Given the description of an element on the screen output the (x, y) to click on. 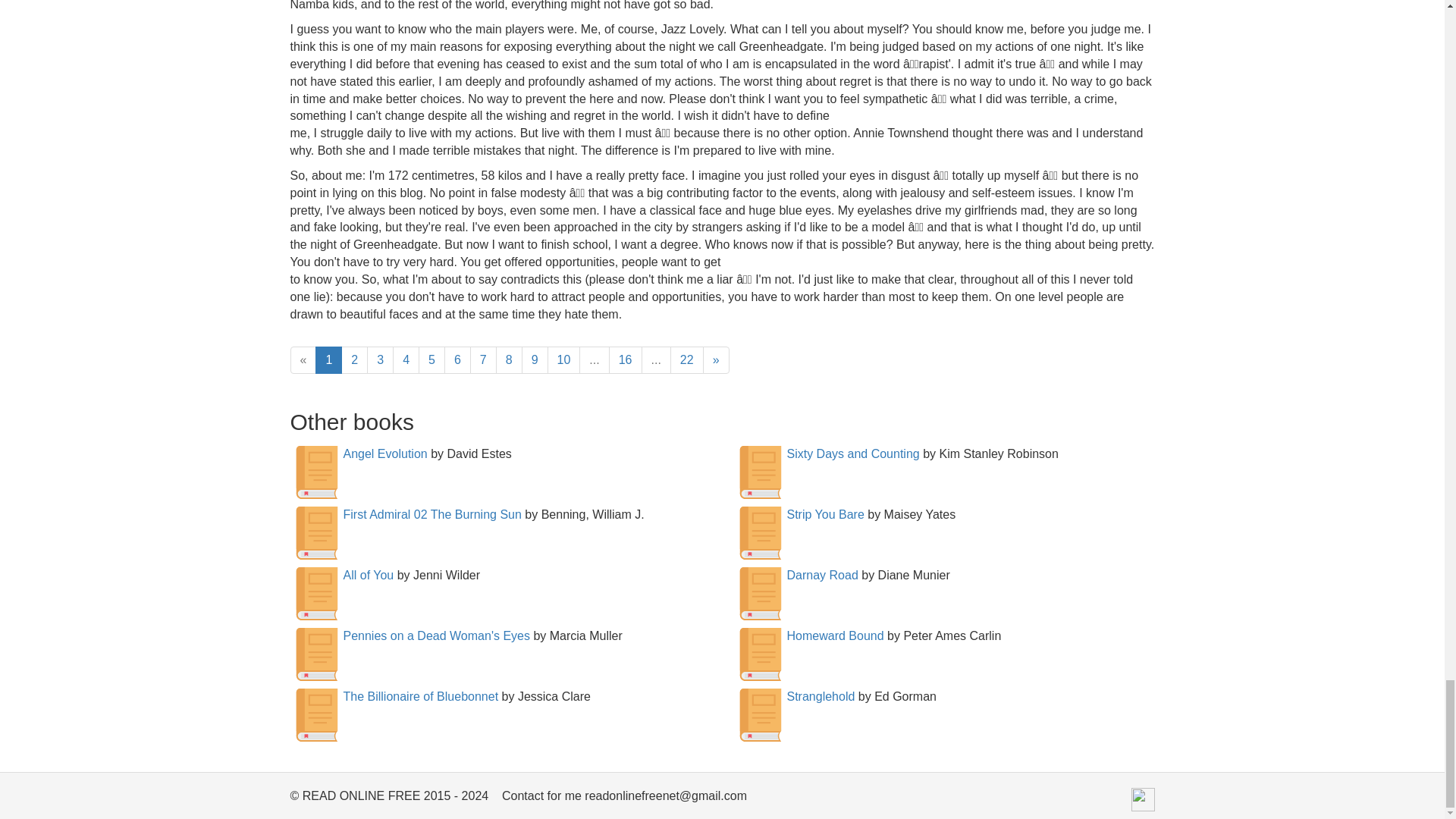
Darnay Road (823, 574)
Angel Evolution (384, 453)
10 (563, 359)
7 (483, 359)
16 (625, 359)
8 (509, 359)
All of You (367, 574)
5 (432, 359)
LiveInternet (1142, 799)
1 (328, 359)
